Given the description of an element on the screen output the (x, y) to click on. 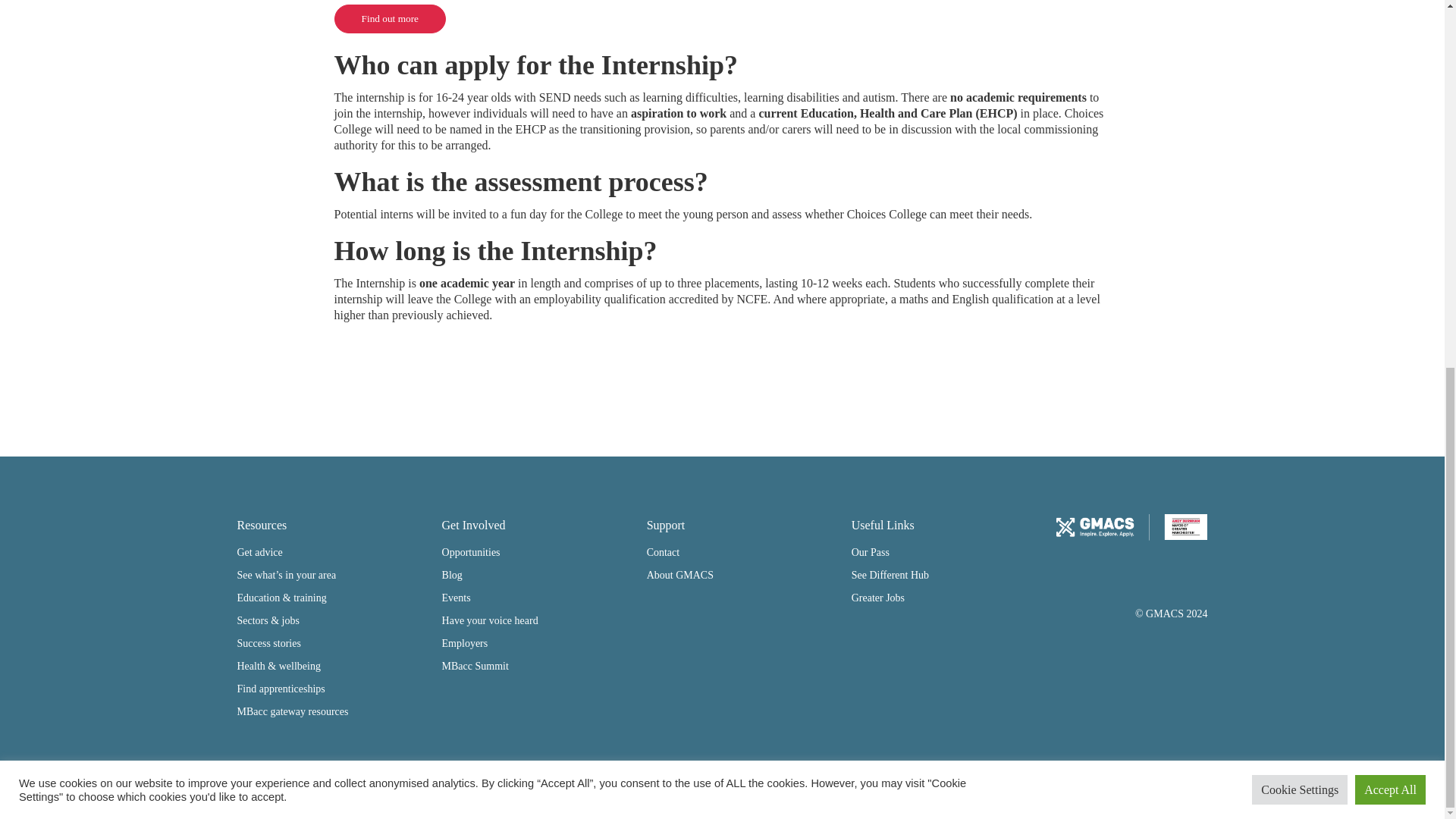
Success stories (267, 643)
Get advice (258, 552)
Find out more (390, 17)
Find out more (390, 18)
